Given the description of an element on the screen output the (x, y) to click on. 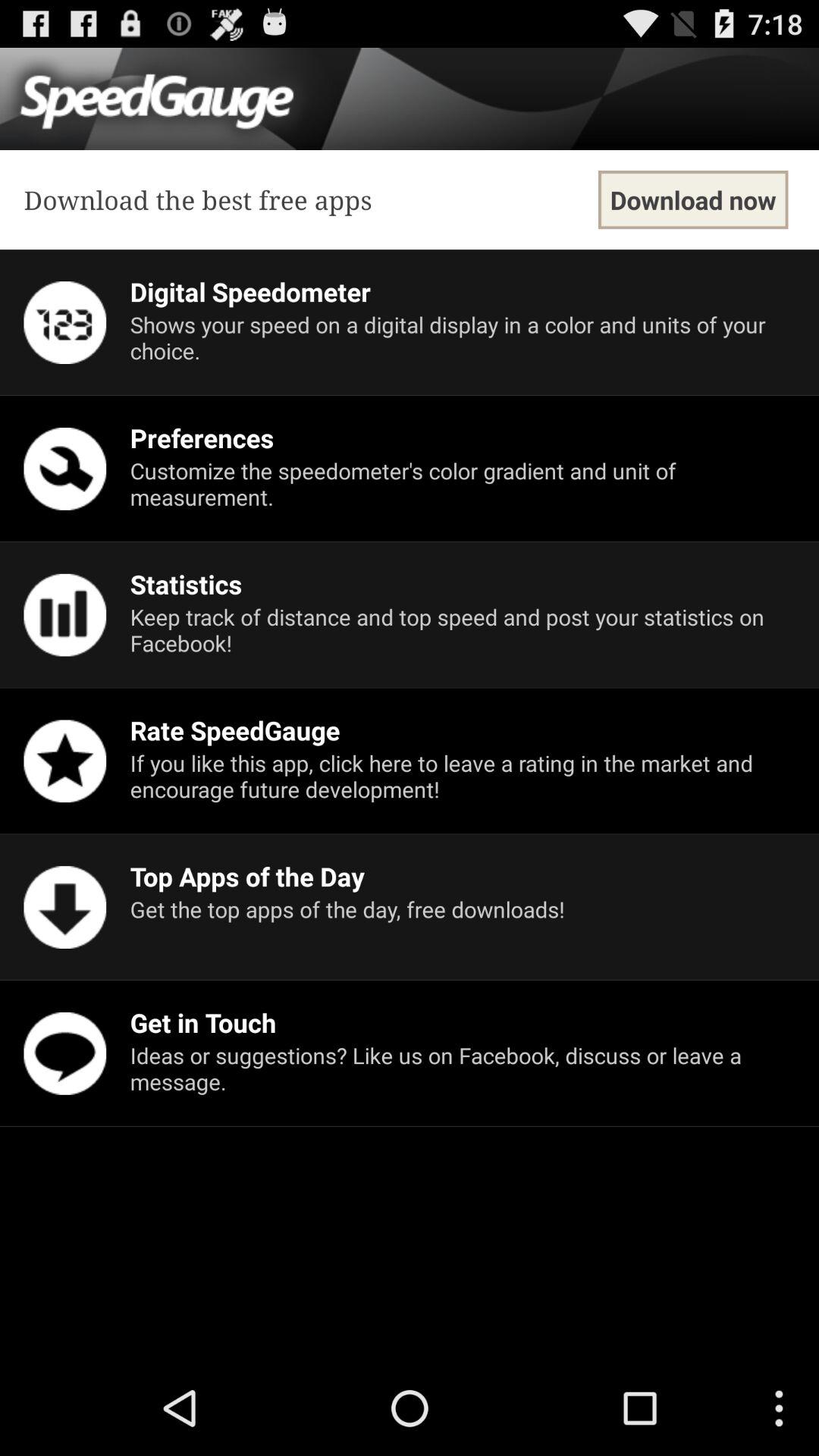
open item to the right of the download the best item (693, 199)
